Given the description of an element on the screen output the (x, y) to click on. 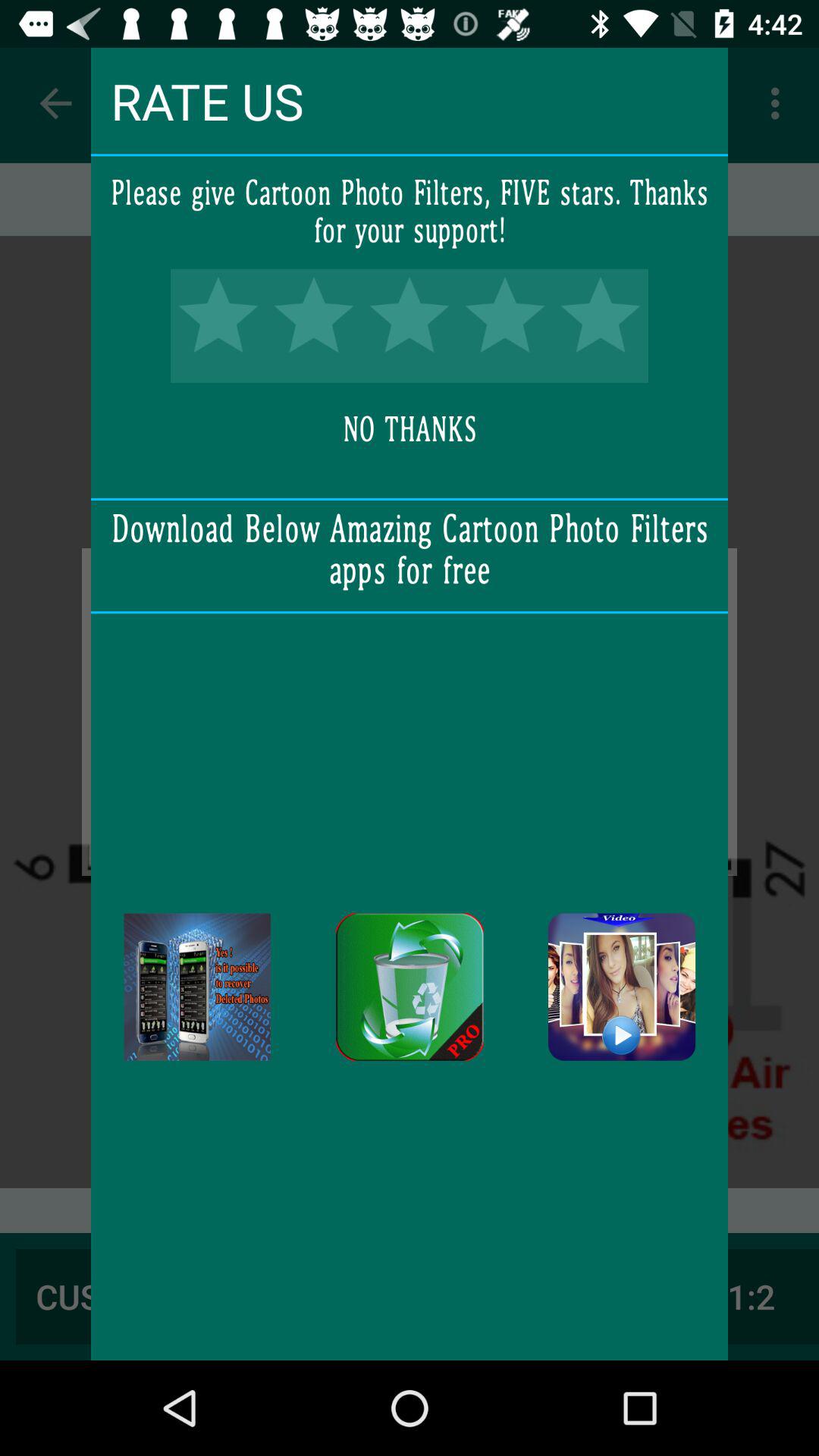
scroll to no thanks icon (409, 430)
